Given the description of an element on the screen output the (x, y) to click on. 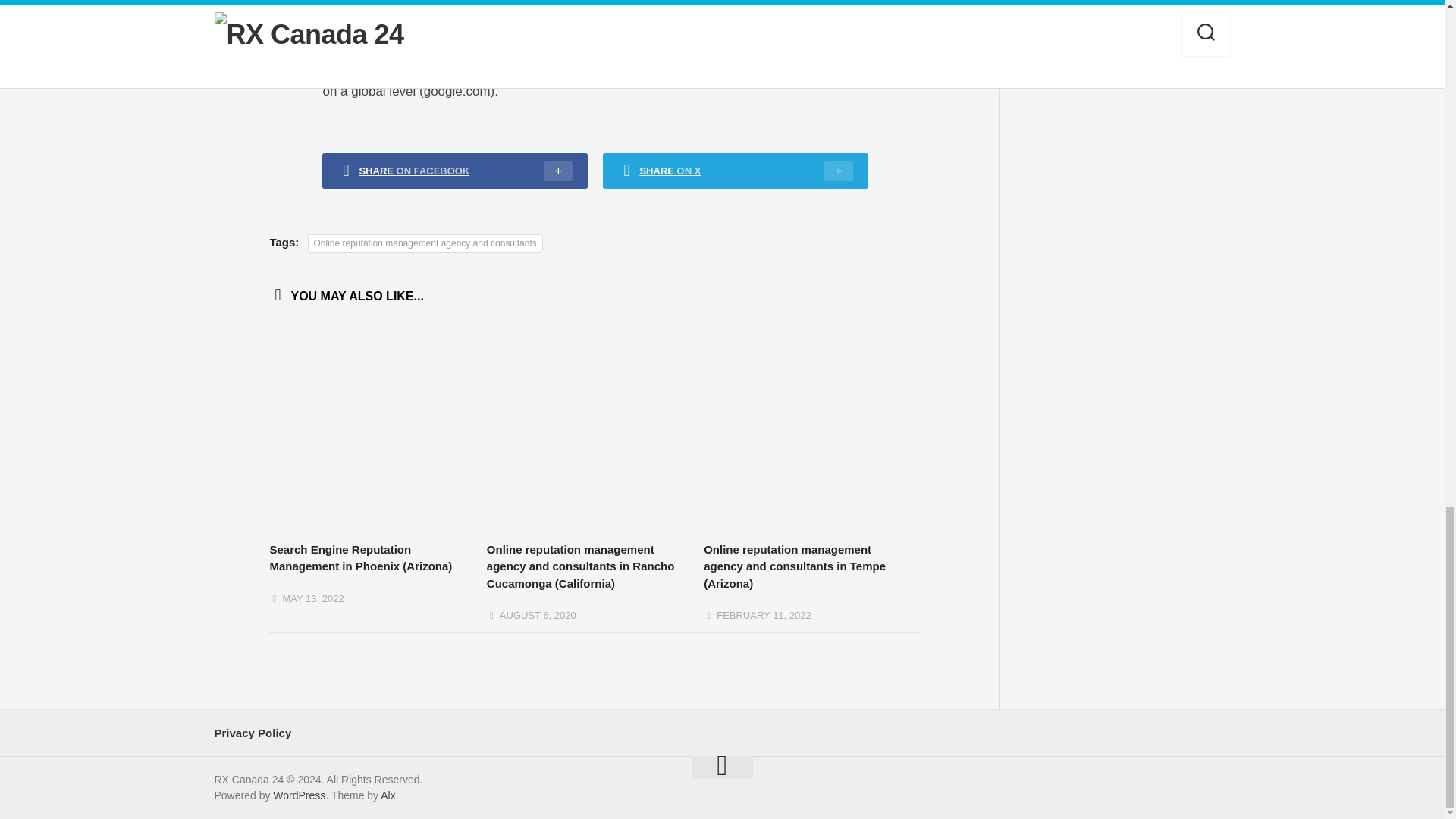
SHARE ON X (734, 171)
SHARE ON FACEBOOK (454, 171)
Online reputation management agency and consultants (425, 243)
